Given the description of an element on the screen output the (x, y) to click on. 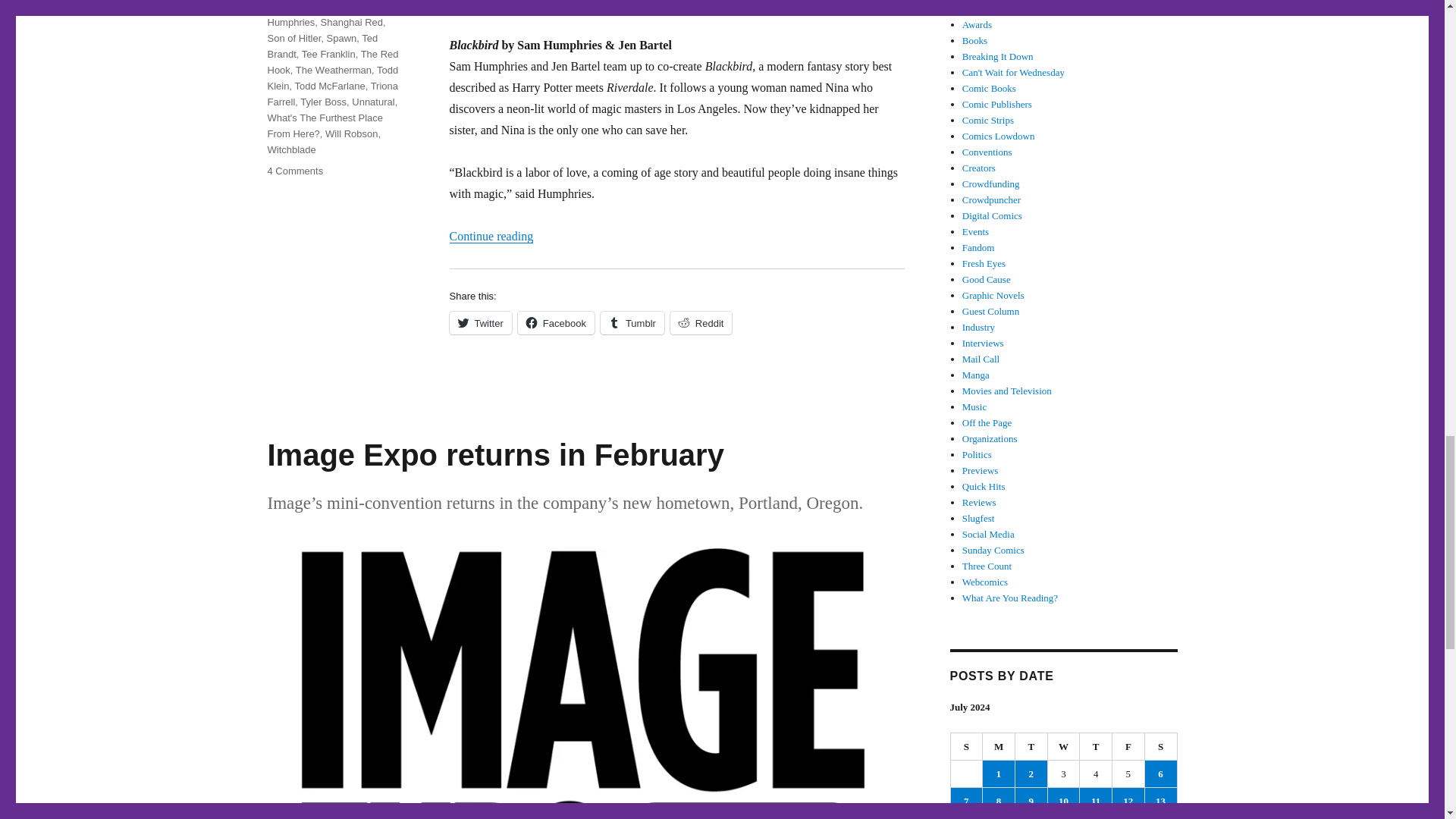
Monday (998, 746)
Click to share on Reddit (700, 323)
Sunday (967, 746)
Friday (1128, 746)
Reddit (700, 323)
Tuesday (1031, 746)
Wednesday (1064, 746)
Twitter (479, 323)
Click to share on Tumblr (631, 323)
Facebook (556, 323)
Click to share on Twitter (479, 323)
Click to share on Facebook (556, 323)
Thursday (1096, 746)
Tumblr (631, 323)
